Given the description of an element on the screen output the (x, y) to click on. 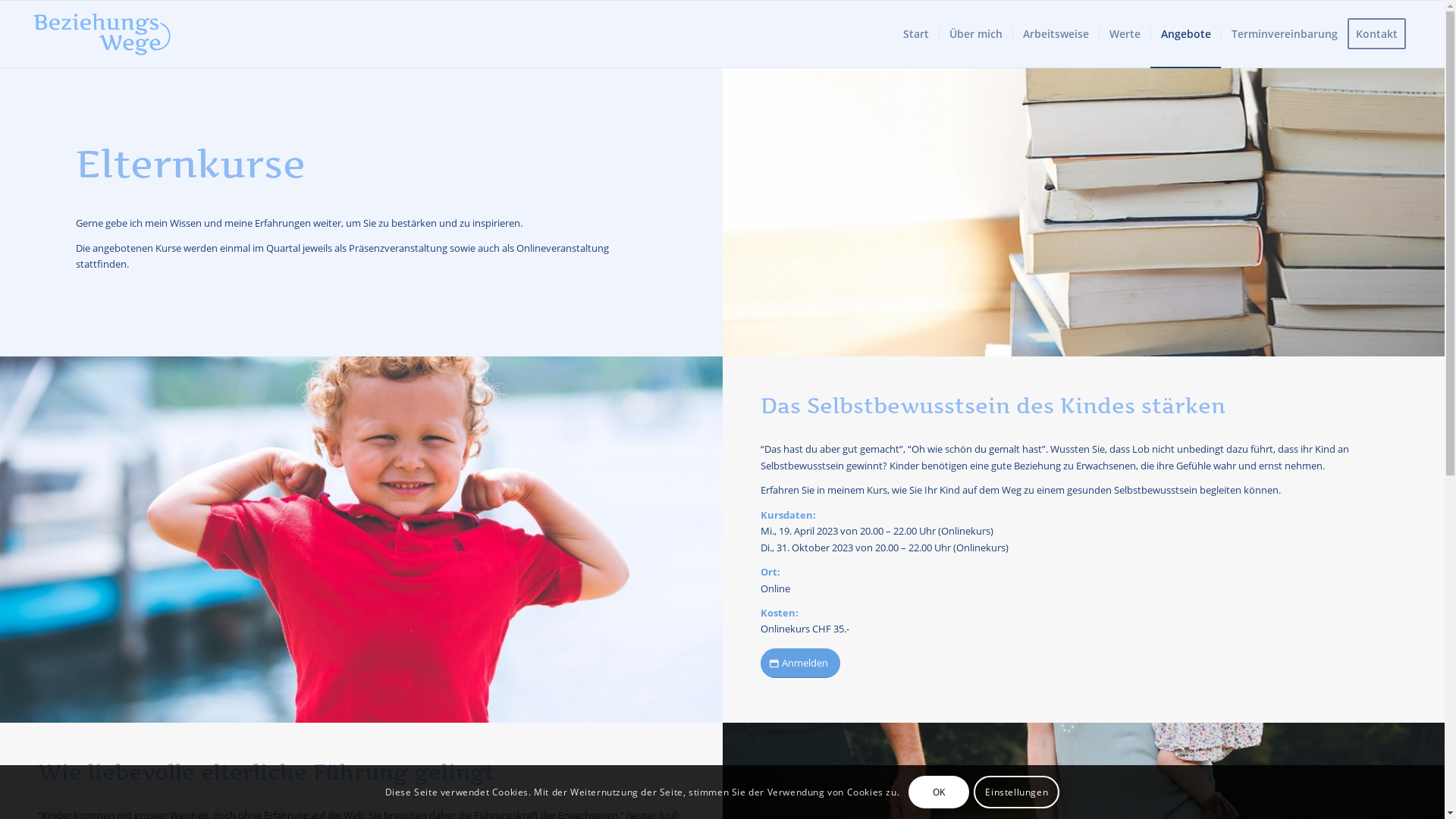
Arbeitsweise Element type: text (1055, 33)
Werte Element type: text (1124, 33)
Anmelden Element type: text (799, 662)
Start Element type: text (915, 33)
BeziehungsWege Logo Blau Element type: hover (101, 33)
Einstellungen Element type: text (1016, 791)
Kontakt Element type: text (1381, 33)
Terminvereinbarung Element type: text (1283, 33)
OK Element type: text (938, 791)
Angebote Element type: text (1185, 33)
